Given the description of an element on the screen output the (x, y) to click on. 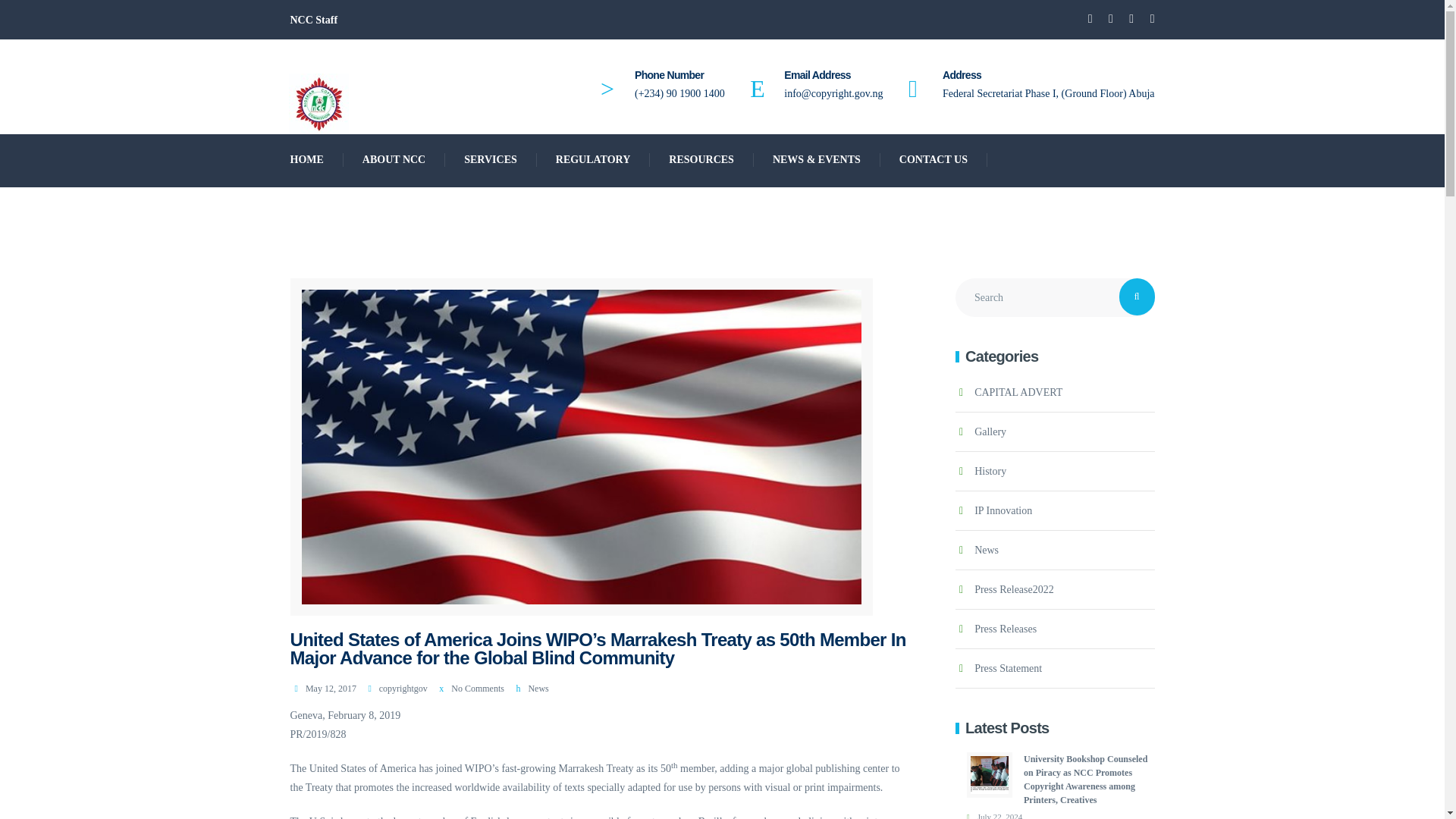
ABOUT NCC (394, 160)
NCC Staff (313, 19)
REGULATORY (593, 160)
RESOURCES (701, 160)
HOME (306, 160)
SERVICES (491, 160)
View all posts by copyrightgov (403, 688)
